Given the description of an element on the screen output the (x, y) to click on. 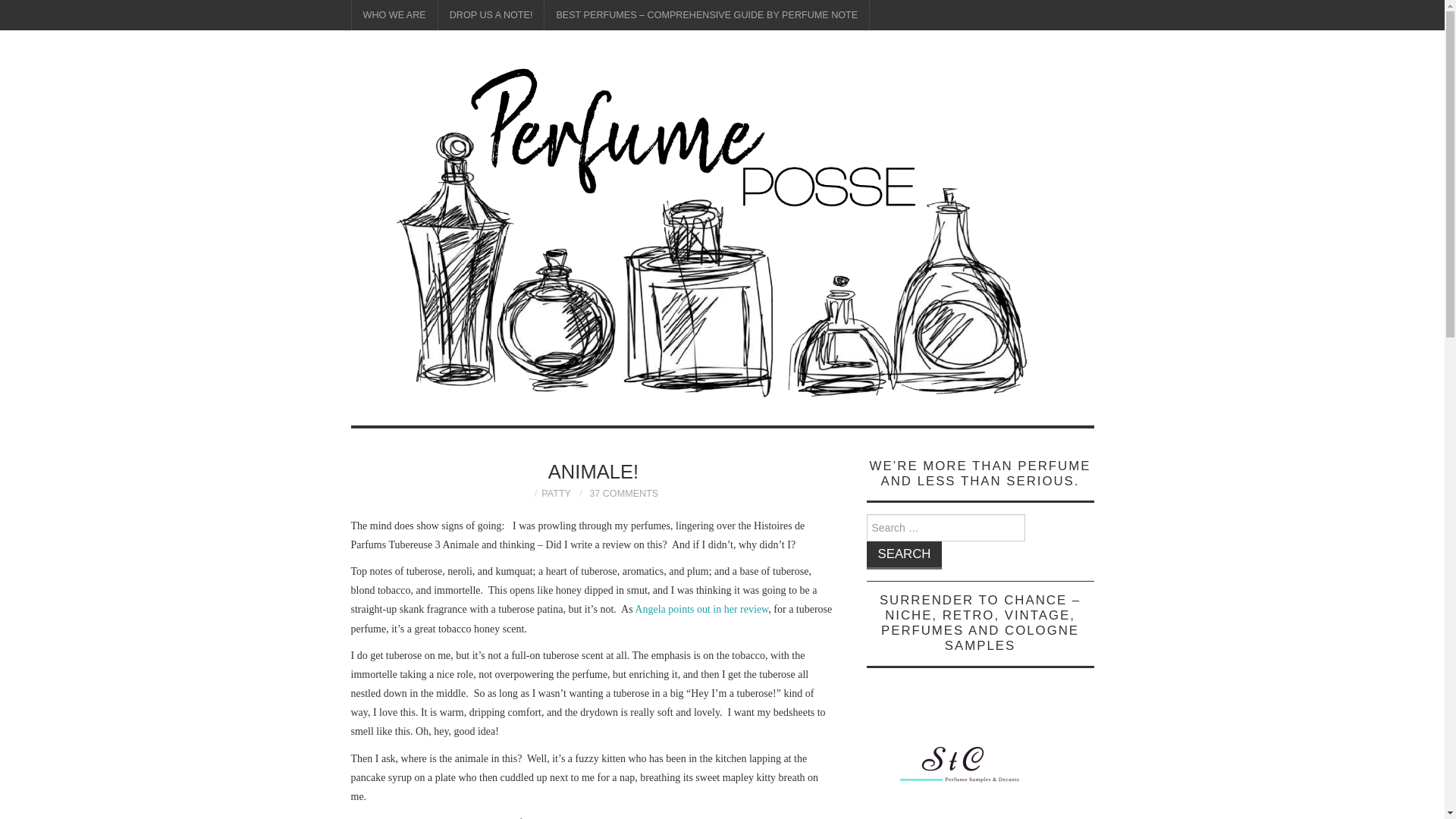
PATTY (555, 493)
DROP US A NOTE! (491, 15)
Perfume Posse (721, 234)
Search for: (945, 527)
Angela points out in her review (701, 609)
37 COMMENTS (623, 493)
WHO WE ARE (395, 15)
Search (904, 555)
Search (904, 555)
